Given the description of an element on the screen output the (x, y) to click on. 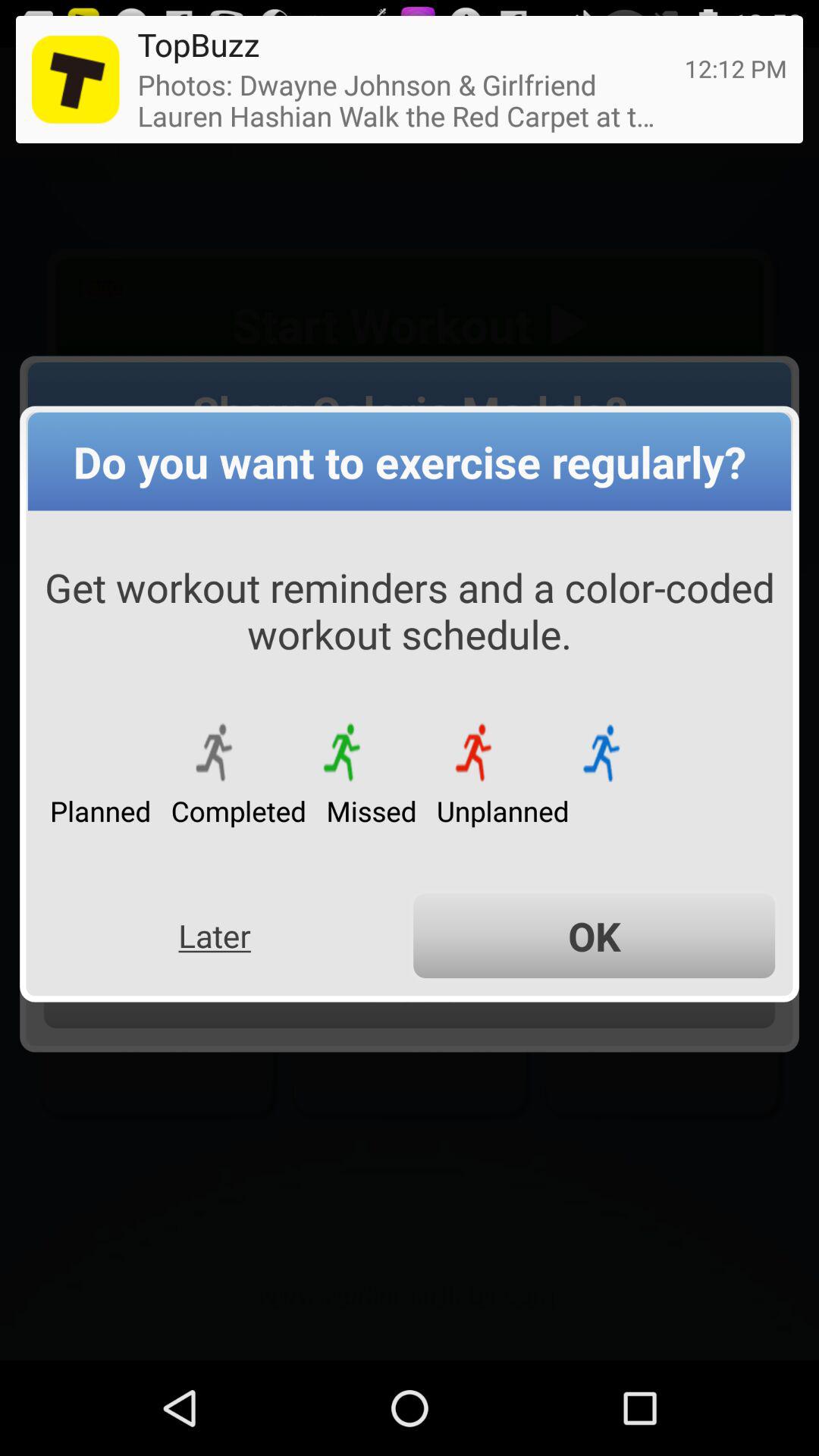
scroll to later app (214, 935)
